Given the description of an element on the screen output the (x, y) to click on. 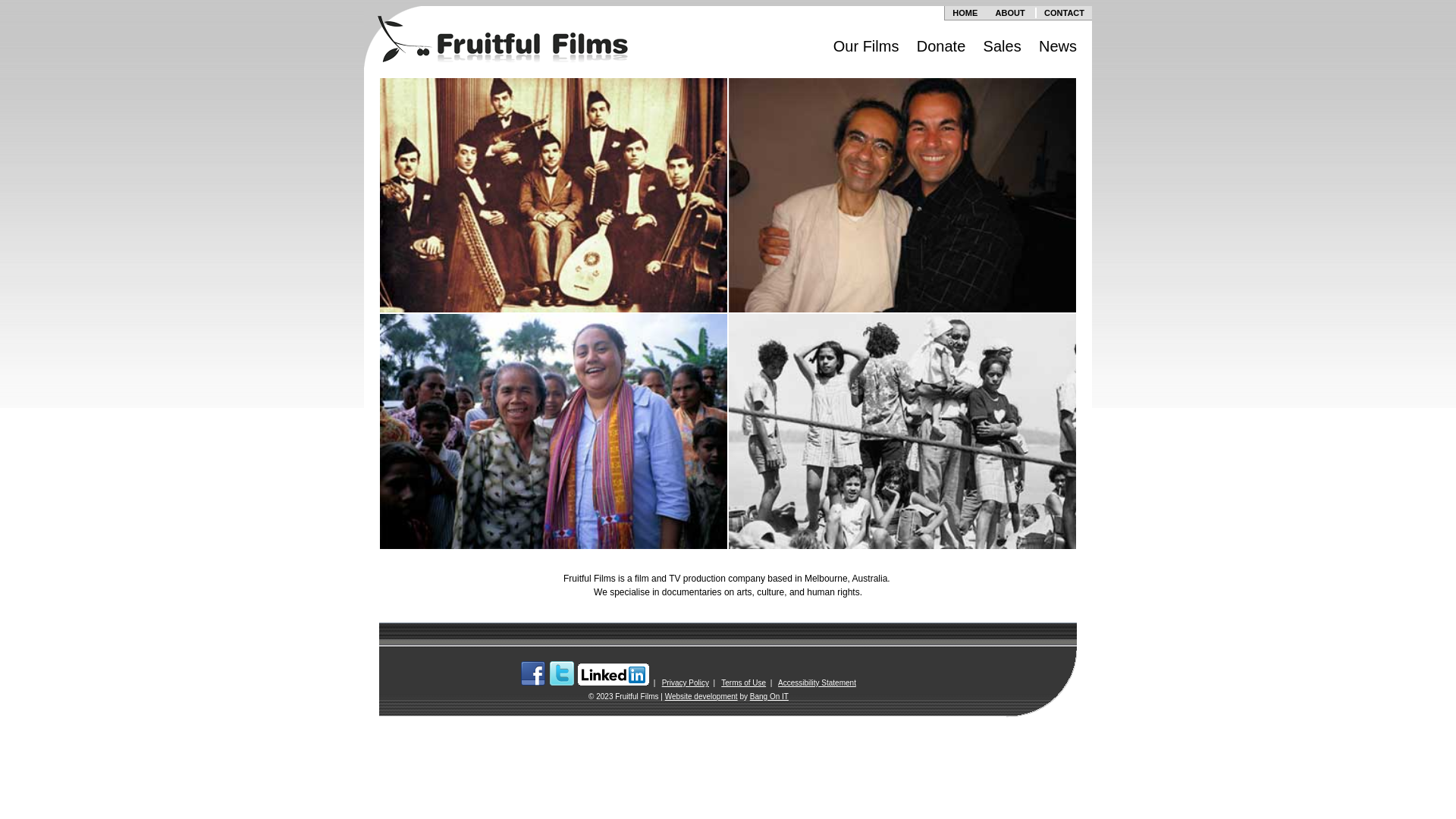
Sales Element type: text (1002, 45)
HOME Element type: text (964, 12)
Donate Element type: text (941, 45)
Accessibility Statement Element type: text (817, 682)
Terms of Use Element type: text (743, 682)
Website development Element type: text (701, 696)
News Element type: text (1057, 45)
Our Films Element type: text (866, 45)
CONTACT Element type: text (1064, 12)
ABOUT Element type: text (1010, 12)
Bang On IT Element type: text (768, 696)
Privacy Policy Element type: text (685, 682)
